Given the description of an element on the screen output the (x, y) to click on. 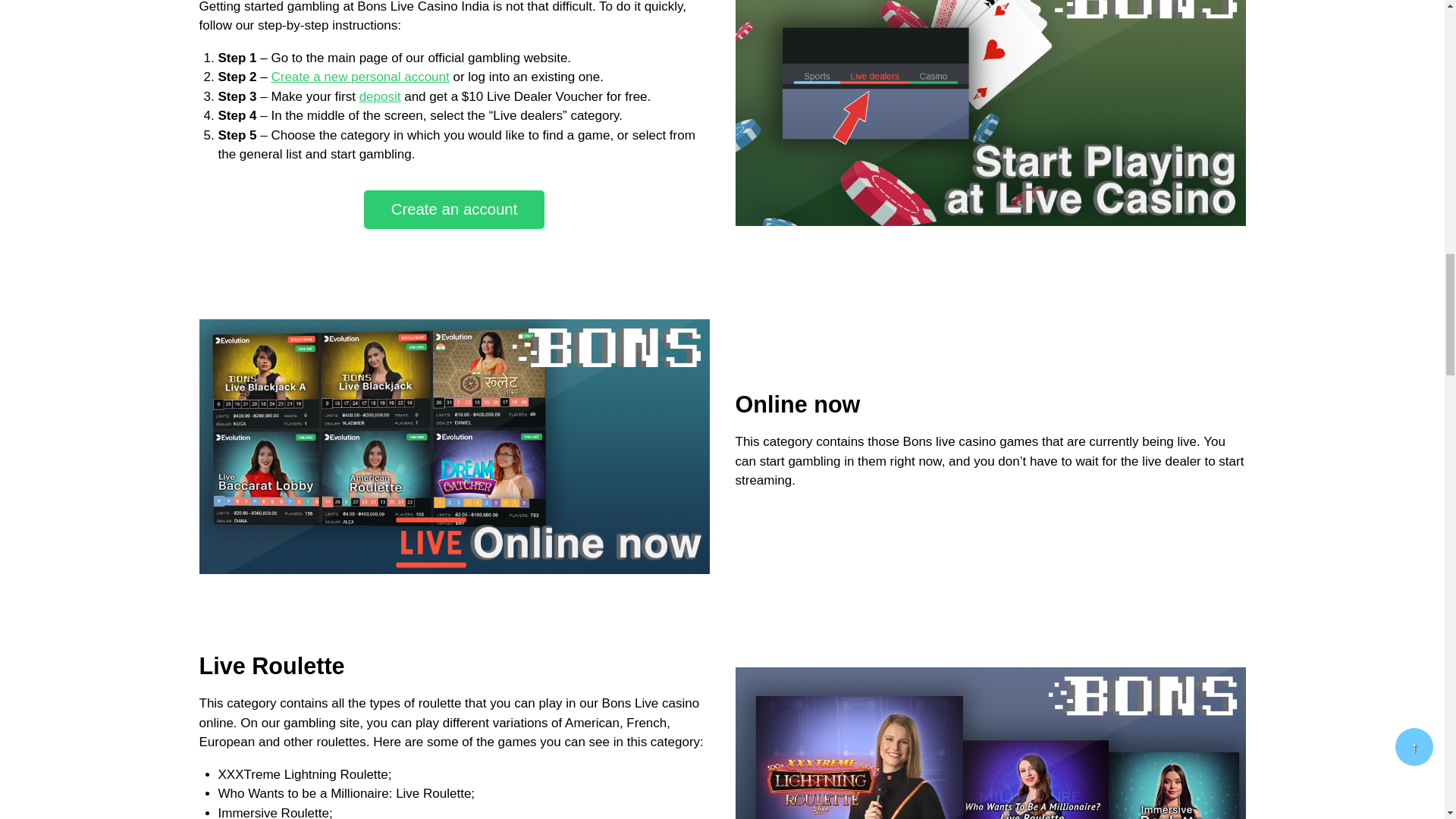
Create an account (454, 209)
Create a new personal account (359, 76)
deposit (380, 96)
